Given the description of an element on the screen output the (x, y) to click on. 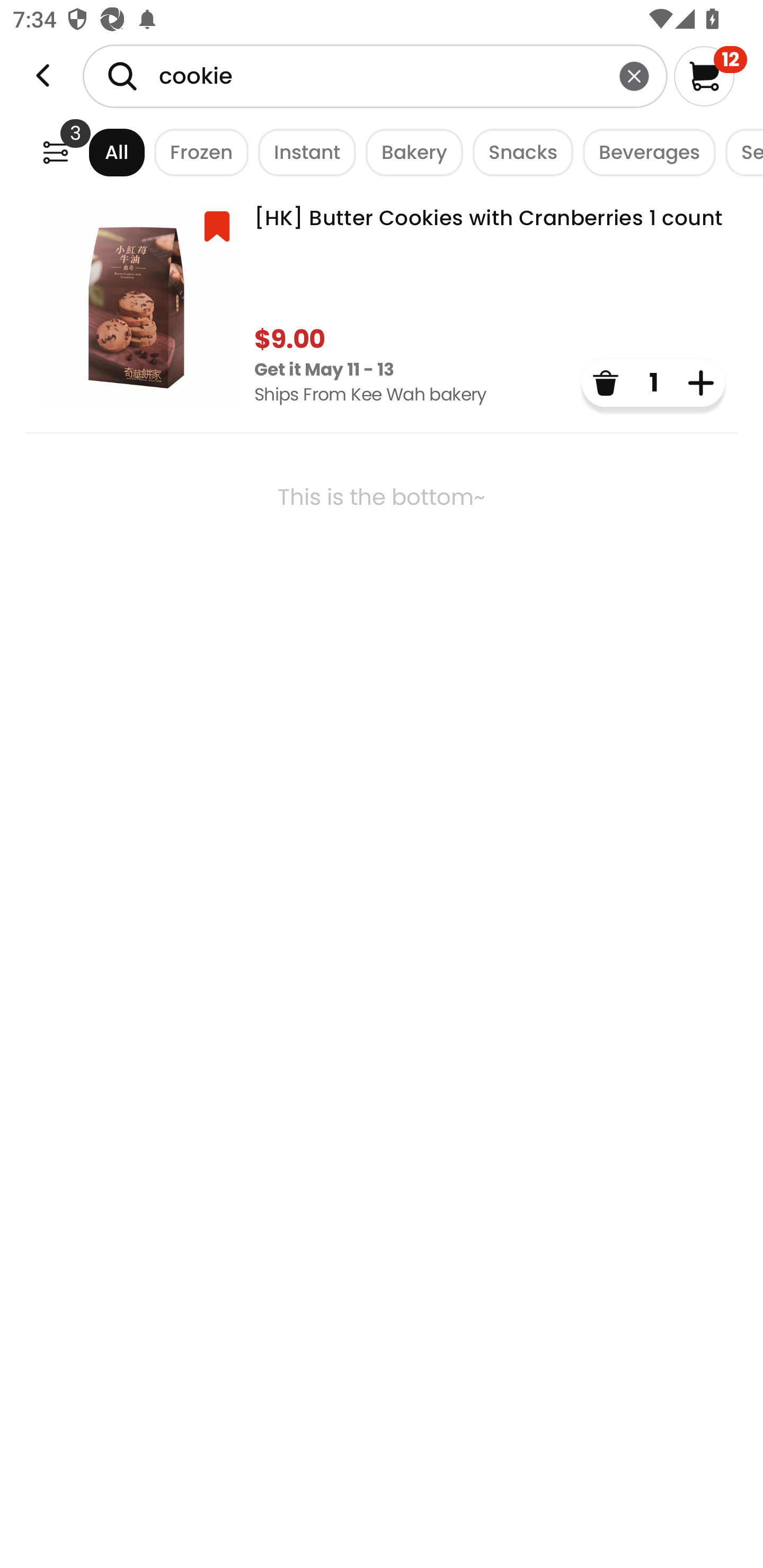
cookie (374, 75)
12 (709, 75)
Weee! (42, 76)
Weee! (55, 151)
All (99, 151)
Frozen (196, 151)
Instant (302, 151)
Bakery (409, 151)
Snacks (518, 151)
Beverages (644, 151)
This is the bottom~ (381, 549)
